Given the description of an element on the screen output the (x, y) to click on. 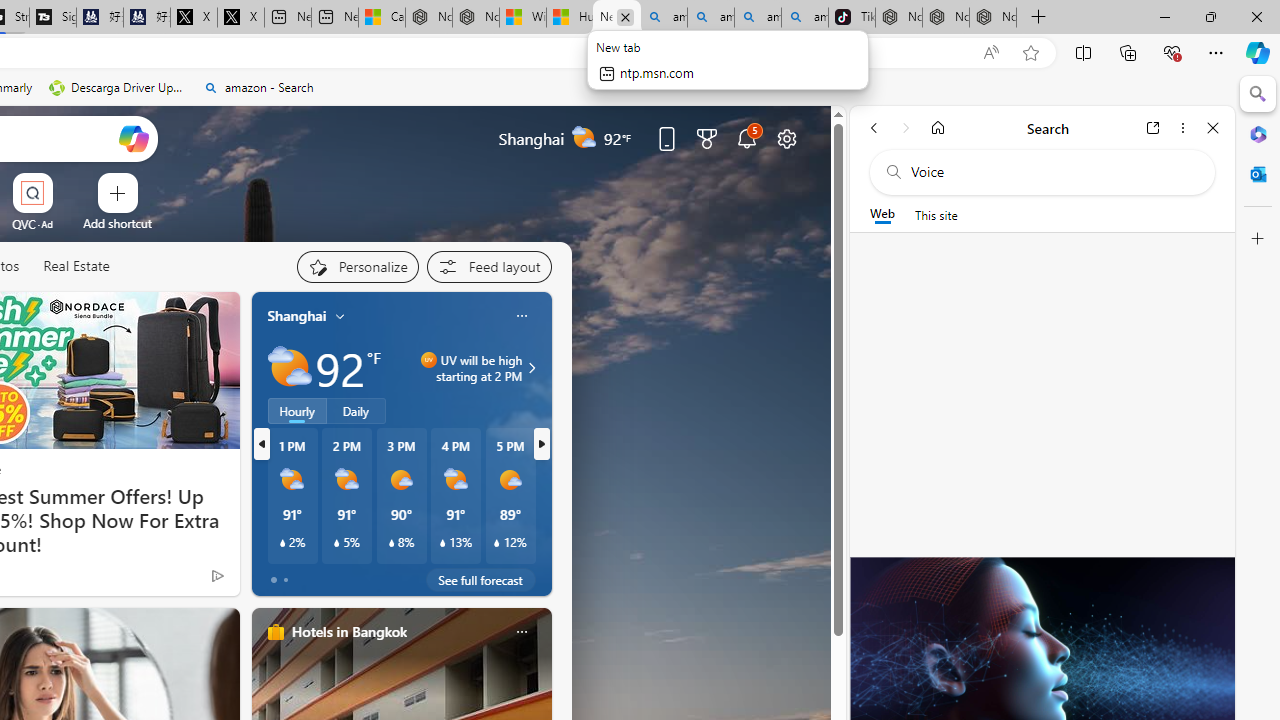
Partly sunny (289, 368)
Real Estate (75, 267)
Microsoft rewards (707, 138)
Add a site (117, 223)
Outlook (1258, 174)
Hotels in Bangkok (348, 631)
Hourly (296, 411)
TikTok (852, 17)
hotels-header-icon (275, 632)
